Given the description of an element on the screen output the (x, y) to click on. 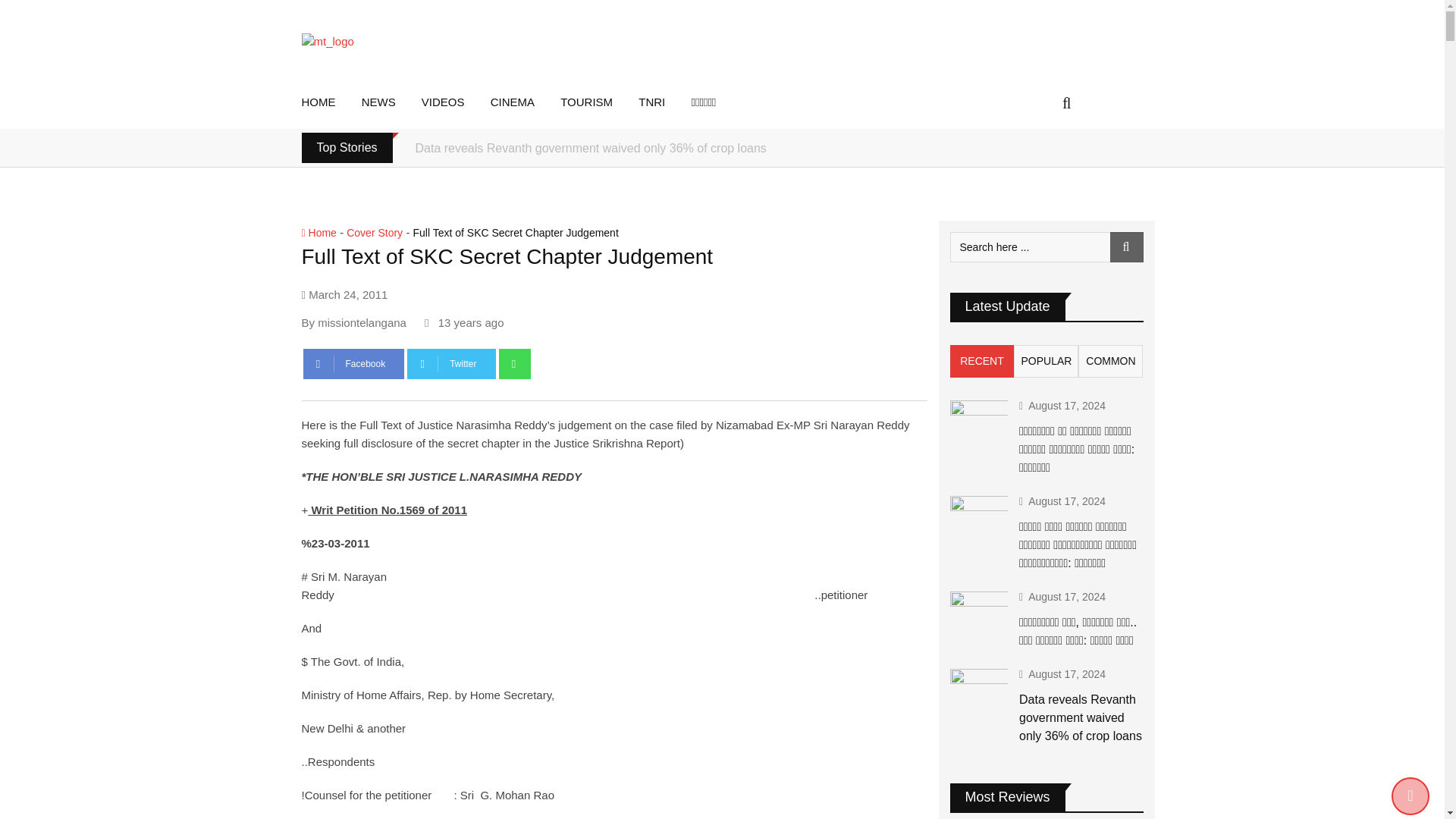
TOURISM (597, 102)
Twitter (451, 363)
TNRI (663, 102)
HOME (329, 102)
Home (318, 232)
NEWS (390, 102)
Facebook (353, 363)
VIDEOS (454, 102)
Cover Story (374, 232)
Whatsapp (515, 363)
